Given the description of an element on the screen output the (x, y) to click on. 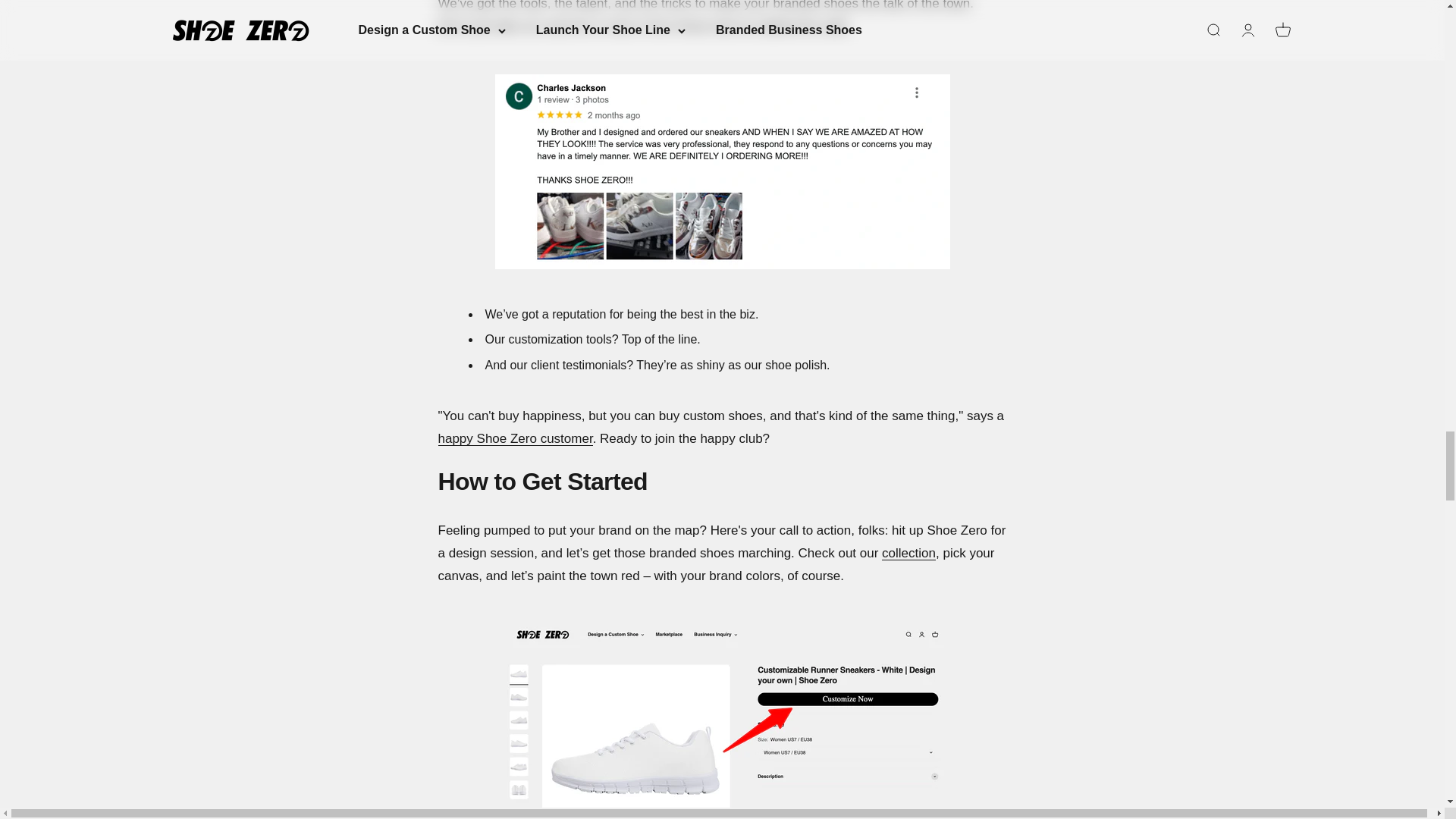
Google Reviews for Shoe Zero (515, 438)
